Given the description of an element on the screen output the (x, y) to click on. 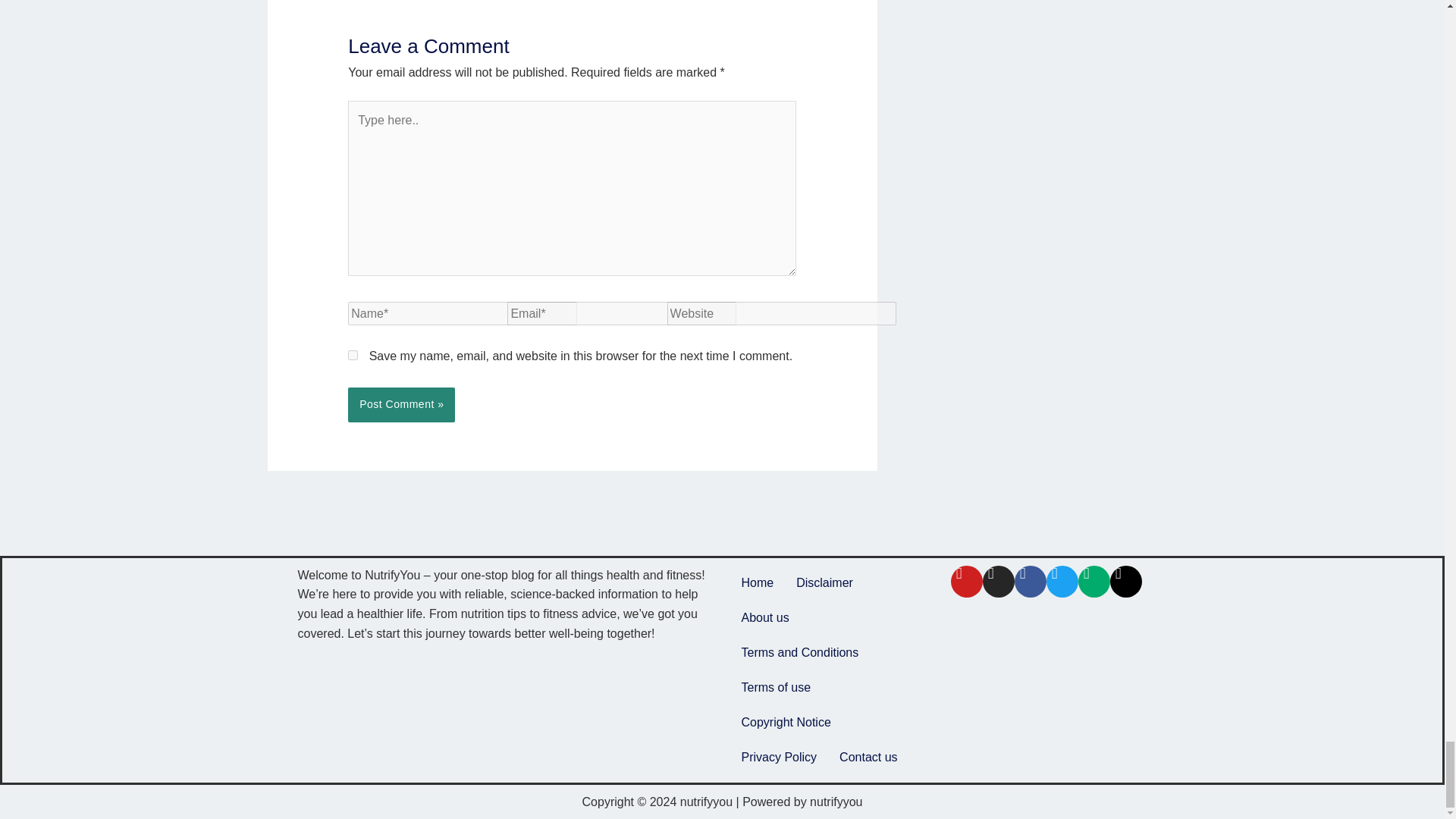
yes (352, 355)
